Given the description of an element on the screen output the (x, y) to click on. 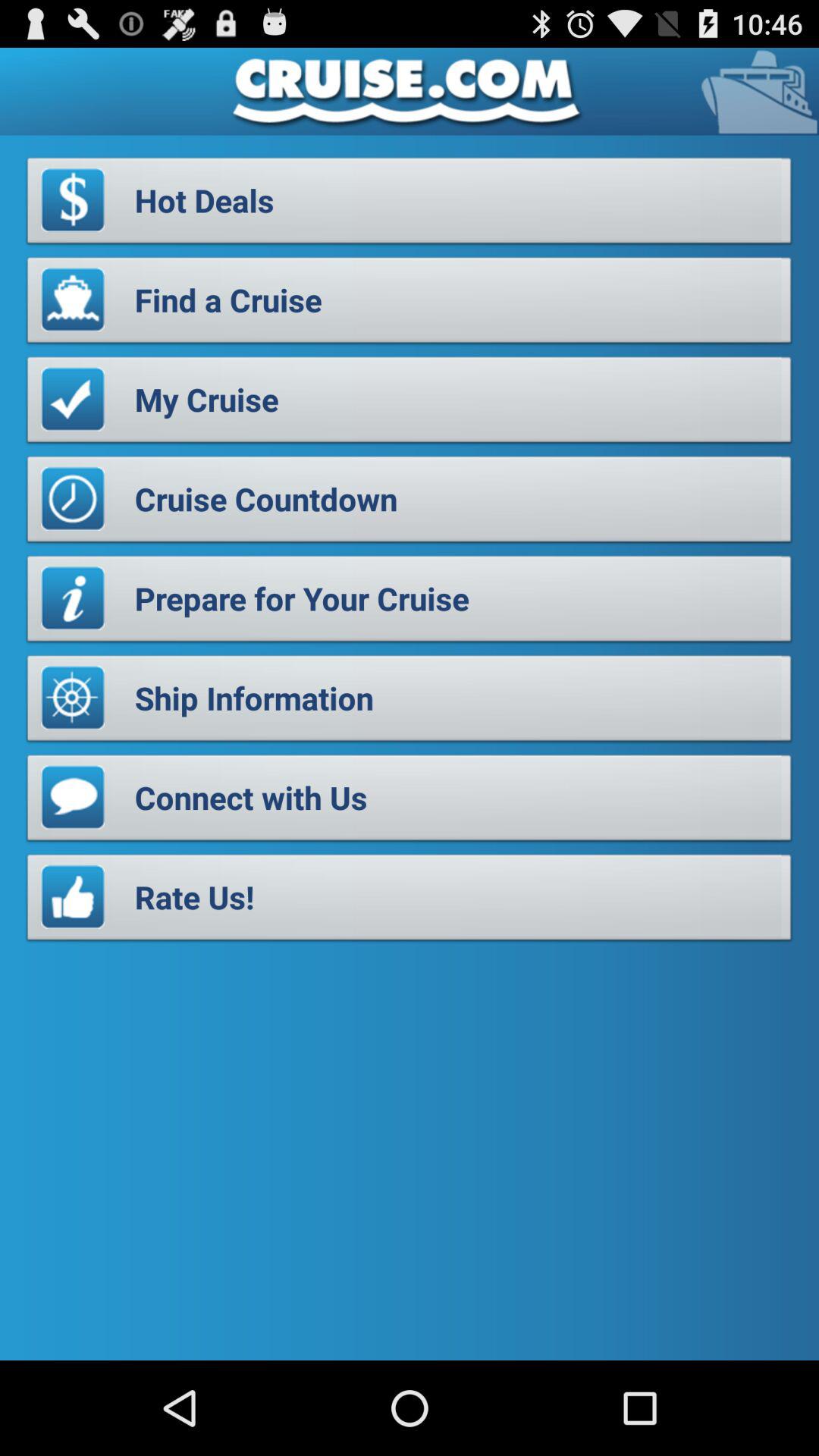
flip to my cruise button (409, 403)
